Given the description of an element on the screen output the (x, y) to click on. 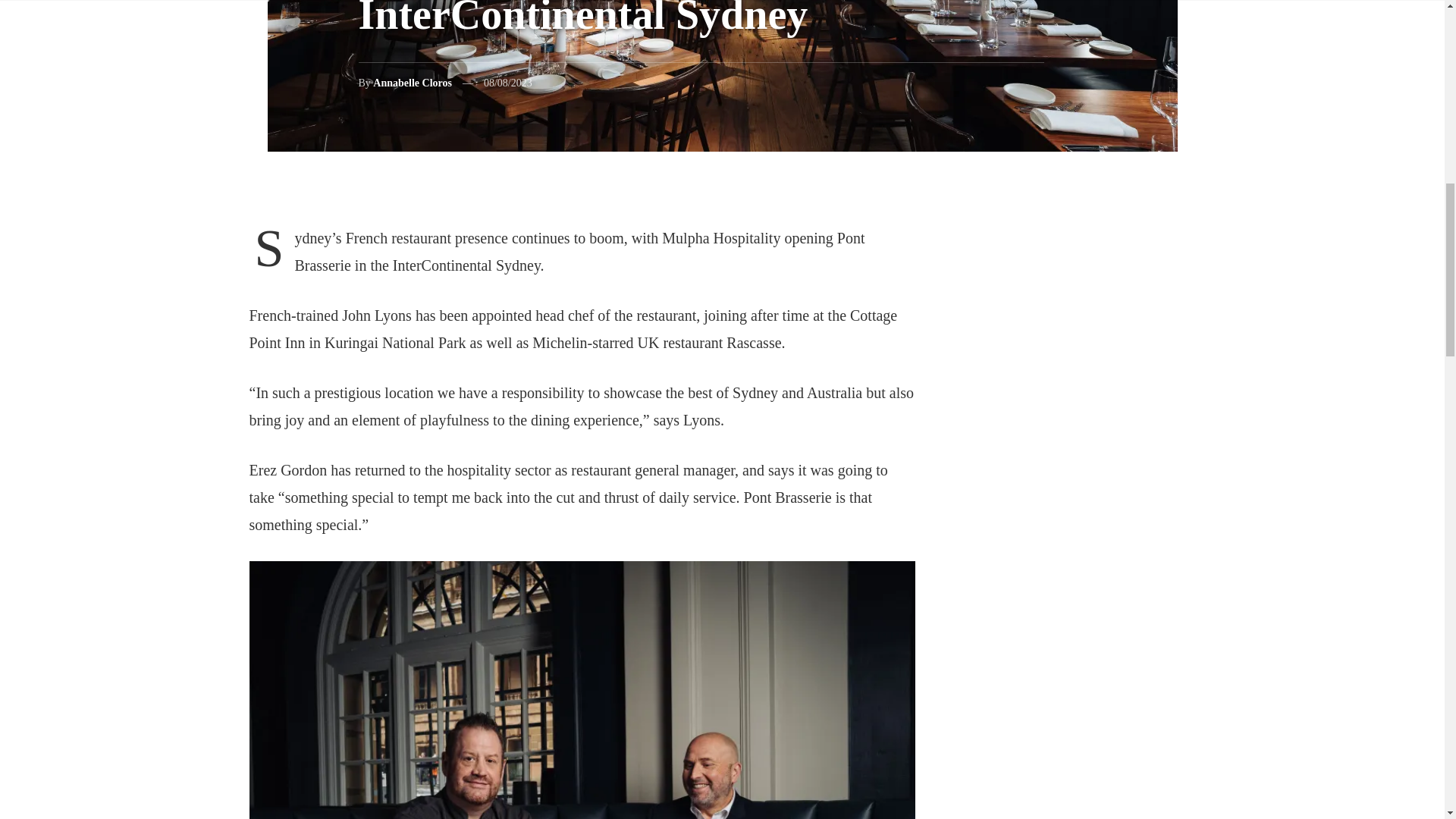
3rd party ad content (1100, 767)
Annabelle Cloros (411, 82)
